Given the description of an element on the screen output the (x, y) to click on. 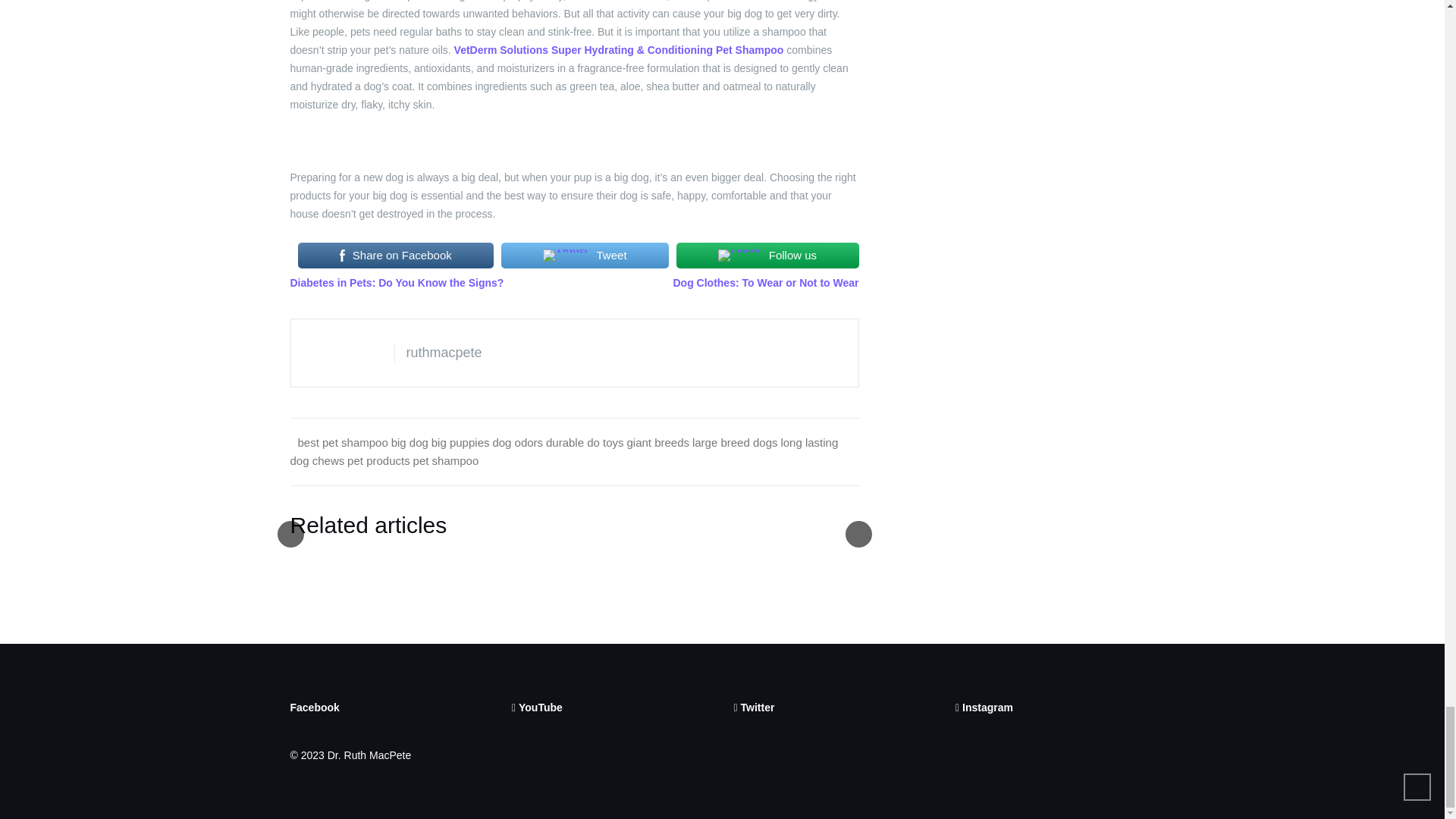
Share on Facebook (395, 255)
pet products (378, 460)
giant breeds (657, 441)
durable do toys (585, 441)
Dog Clothes: To Wear or Not to Wear (765, 282)
long lasting dog chews (563, 450)
big puppies (459, 441)
big dog (409, 441)
best pet shampoo (342, 441)
Diabetes in Pets: Do You Know the Signs? (396, 282)
dog odors (517, 441)
pet shampoo (446, 460)
Tweet (584, 255)
large breed dogs (735, 441)
Follow us (768, 255)
